Given the description of an element on the screen output the (x, y) to click on. 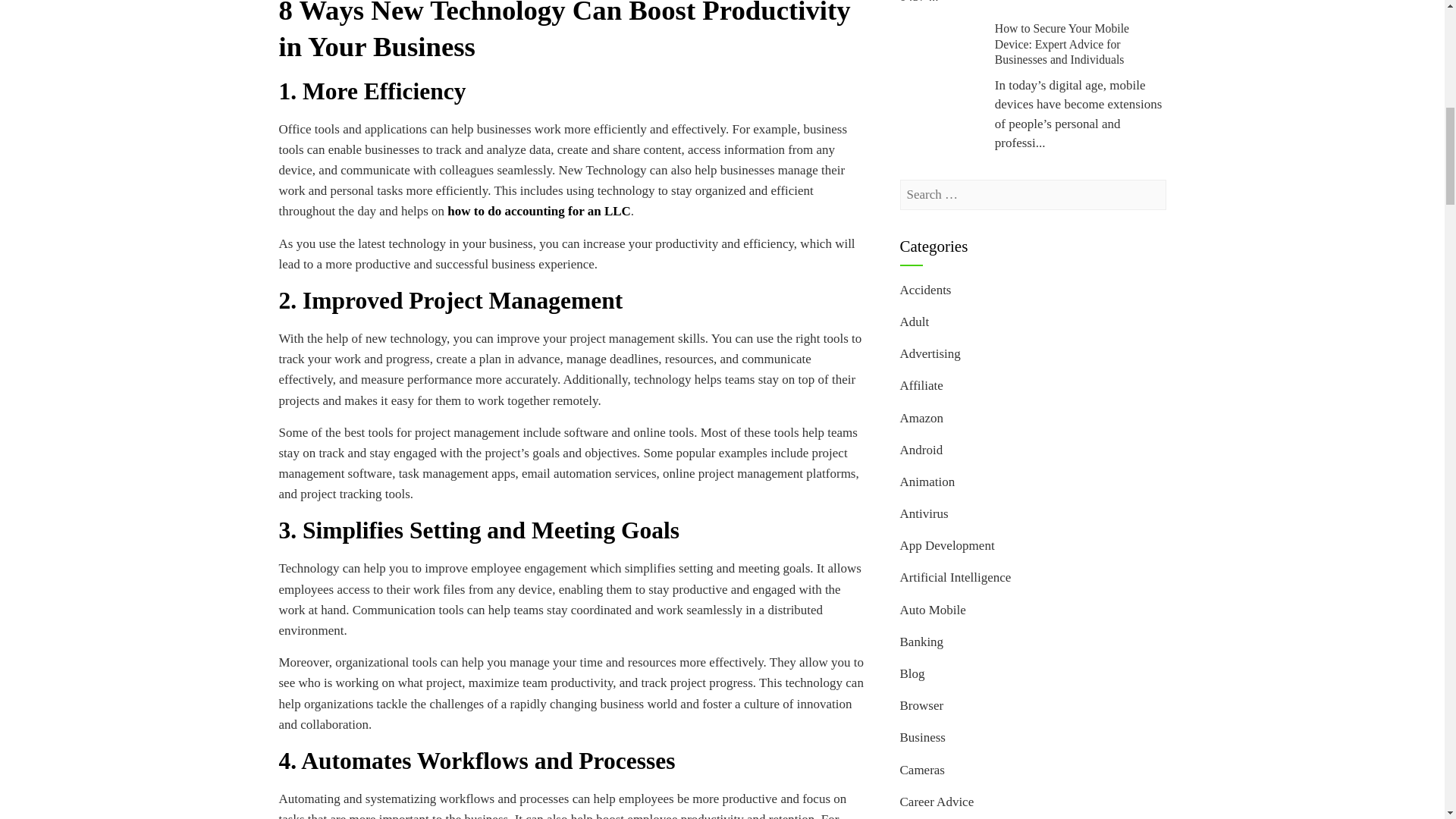
how to do accounting for an LLC (538, 210)
